Given the description of an element on the screen output the (x, y) to click on. 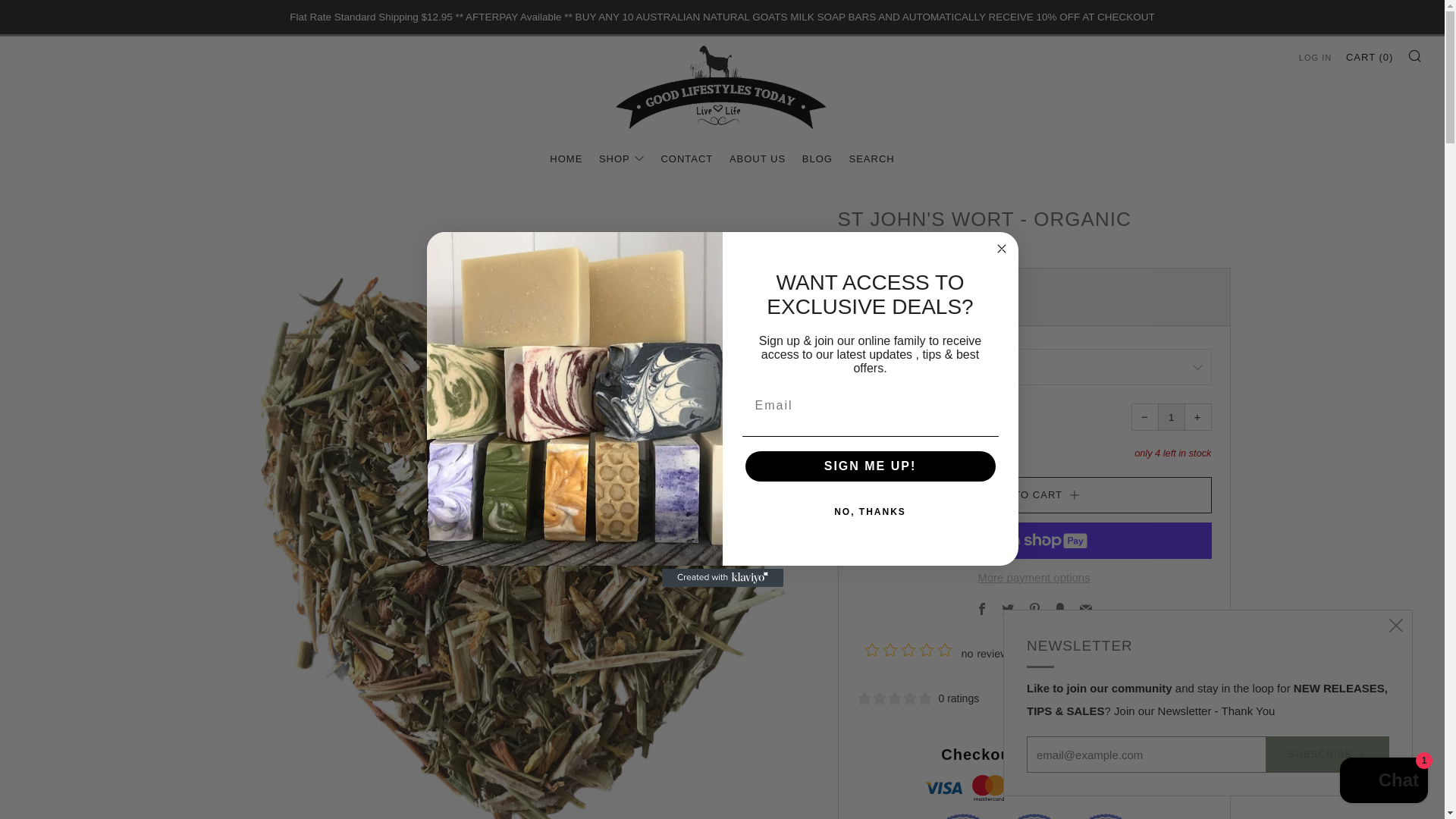
HOME (566, 159)
1 (1171, 416)
SHOP (621, 159)
Shopify online store chat (1383, 781)
